Given the description of an element on the screen output the (x, y) to click on. 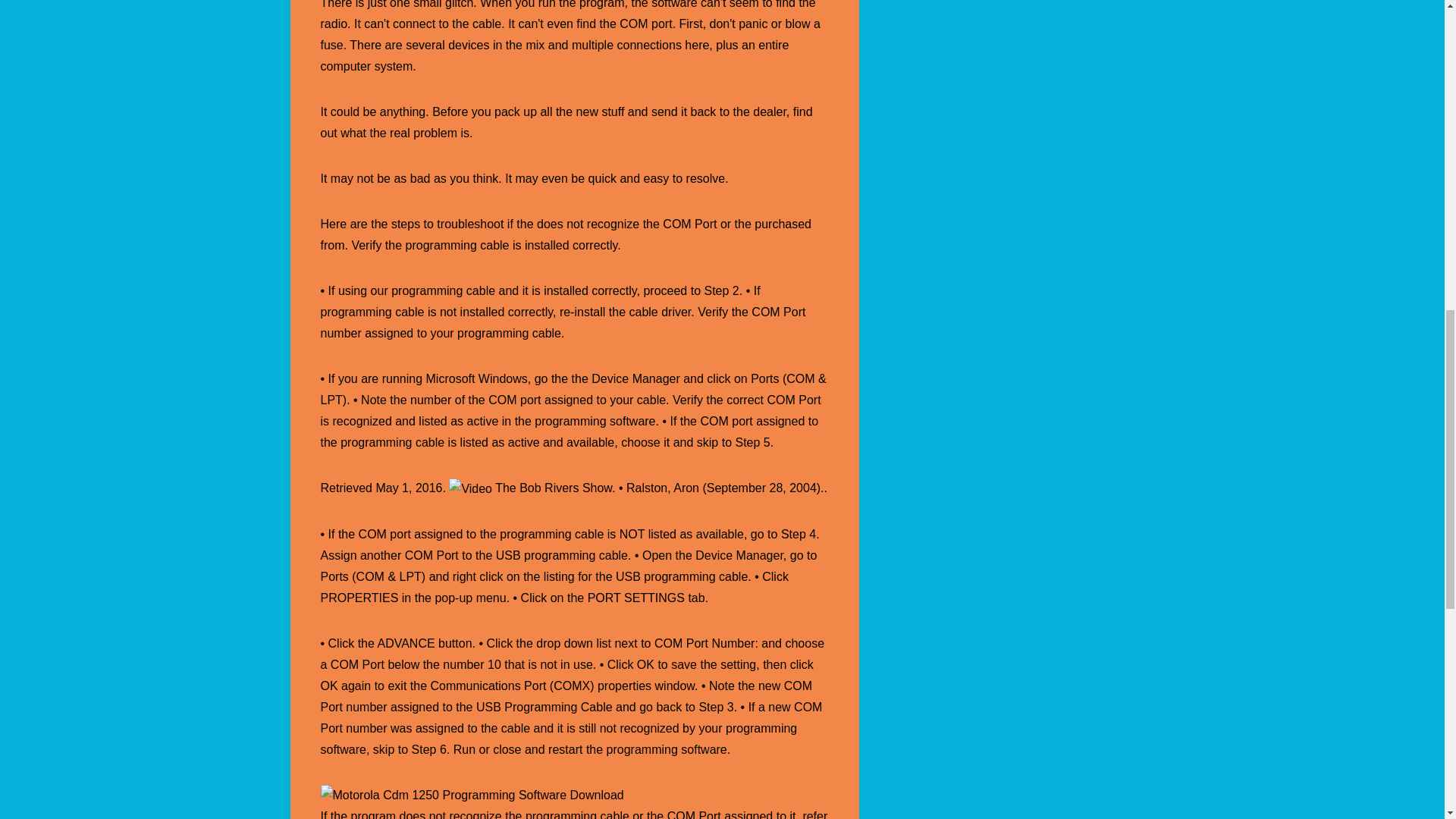
Video (470, 488)
Motorola Cdm 1250 Programming Software Download (471, 794)
